Given the description of an element on the screen output the (x, y) to click on. 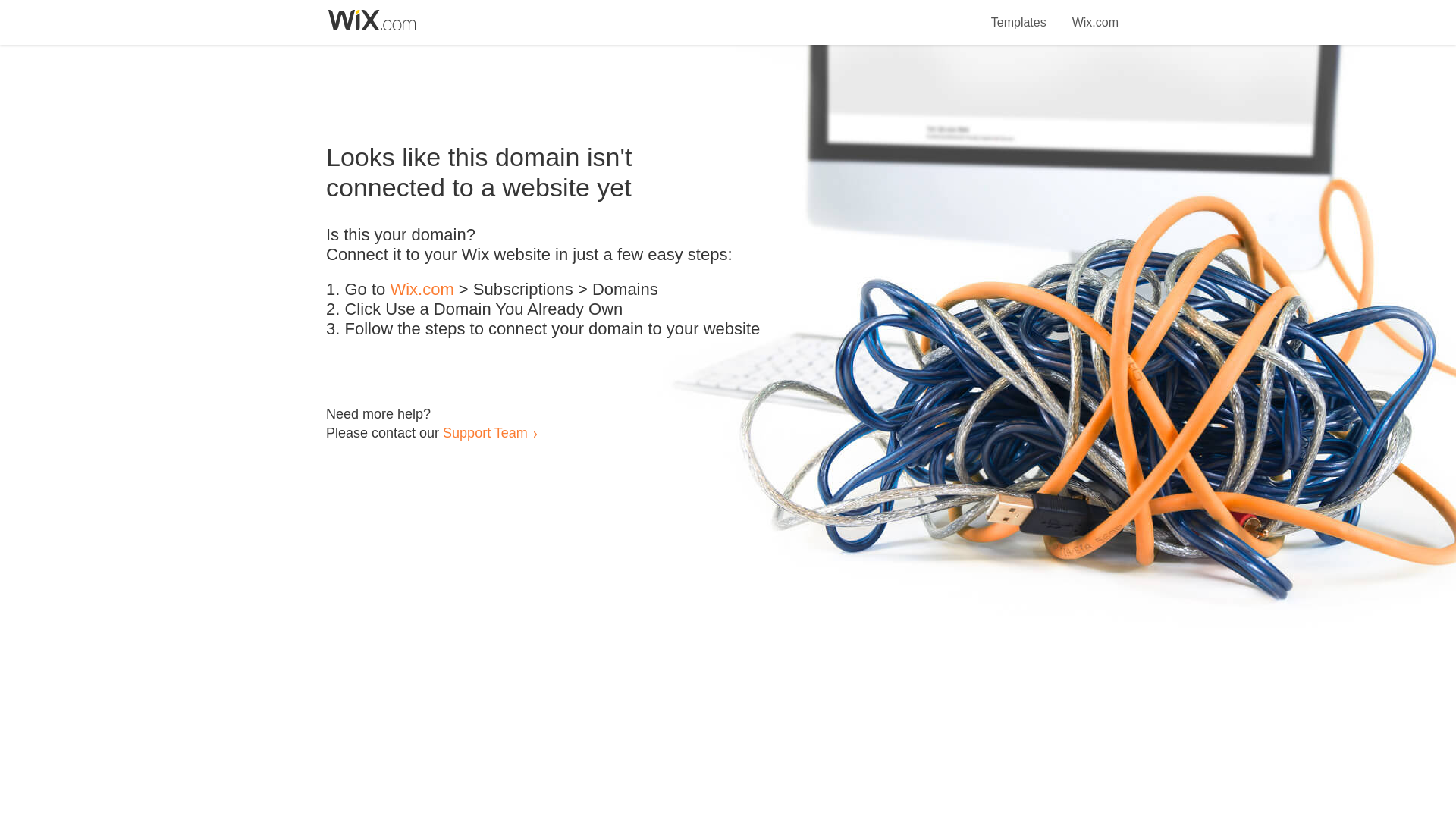
Wix.com (1095, 14)
Support Team (484, 432)
Wix.com (421, 289)
Templates (1018, 14)
